Given the description of an element on the screen output the (x, y) to click on. 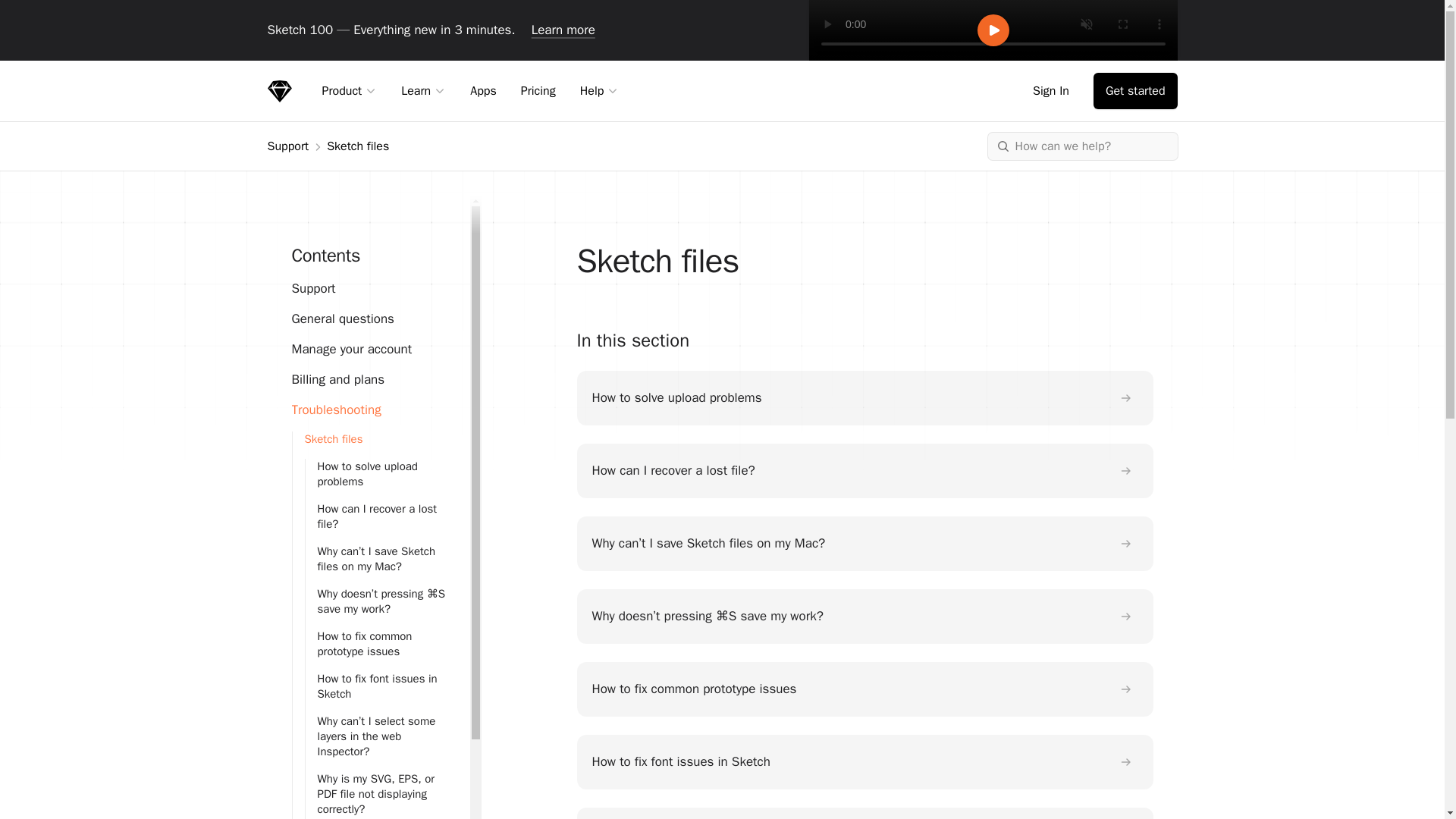
Sign In (1053, 90)
Get started (1135, 90)
Apps (483, 90)
Learn more (563, 29)
Pricing (537, 90)
